Given the description of an element on the screen output the (x, y) to click on. 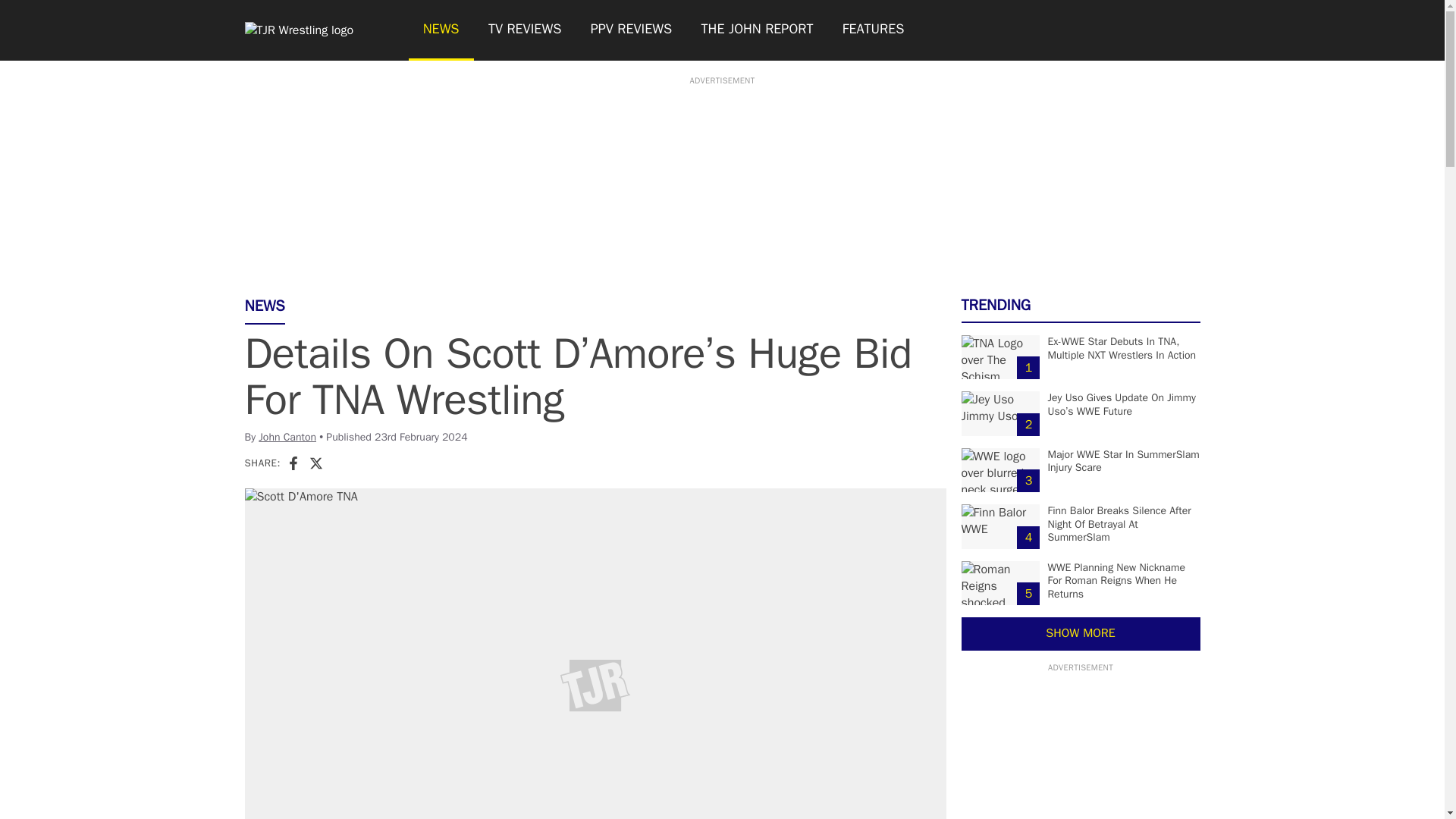
Facebook (292, 463)
FEATURES (873, 30)
NEWS (440, 30)
John Canton (287, 436)
THE JOHN REPORT (756, 30)
Facebook (292, 462)
TV REVIEWS (525, 30)
PPV REVIEWS (631, 30)
X (315, 462)
X (315, 463)
